Given the description of an element on the screen output the (x, y) to click on. 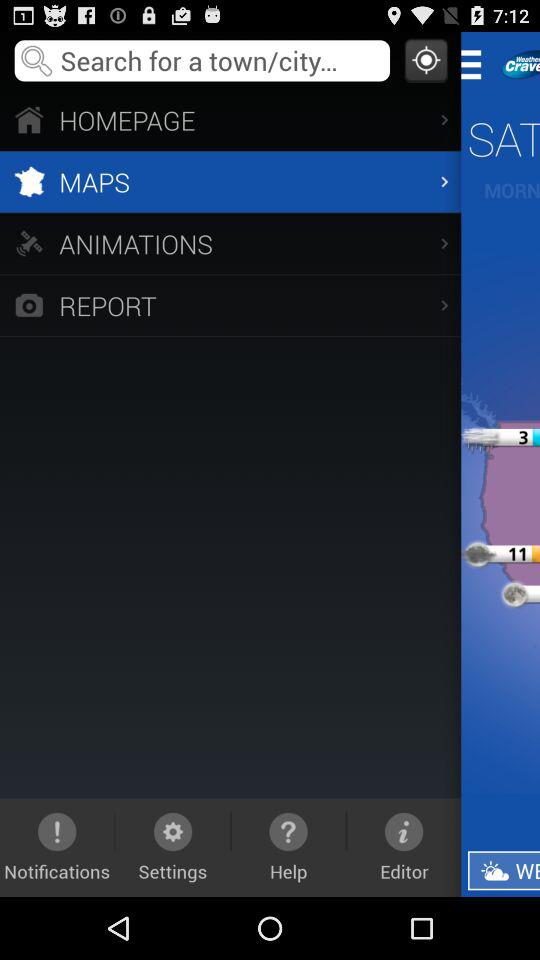
launch maps item (230, 181)
